Given the description of an element on the screen output the (x, y) to click on. 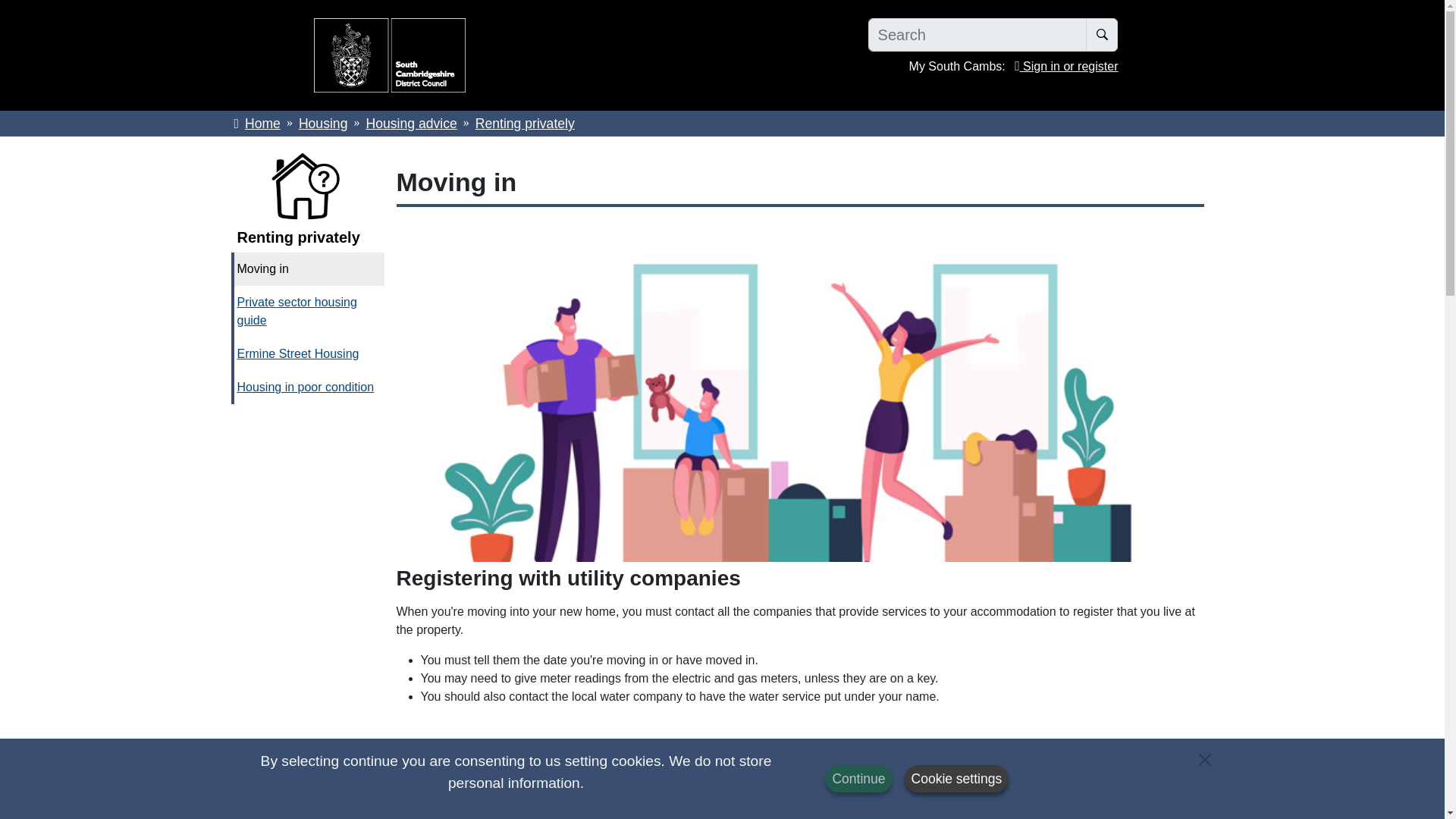
Sign in or register (1066, 65)
Private sector housing guide (308, 311)
Housing in poor condition (308, 387)
Renting privately (525, 123)
Renting privately (307, 237)
Home (255, 123)
Skip To Main Content (12, 5)
Ermine Street Housing (308, 354)
Moving in (308, 268)
Housing advice (411, 123)
